Given the description of an element on the screen output the (x, y) to click on. 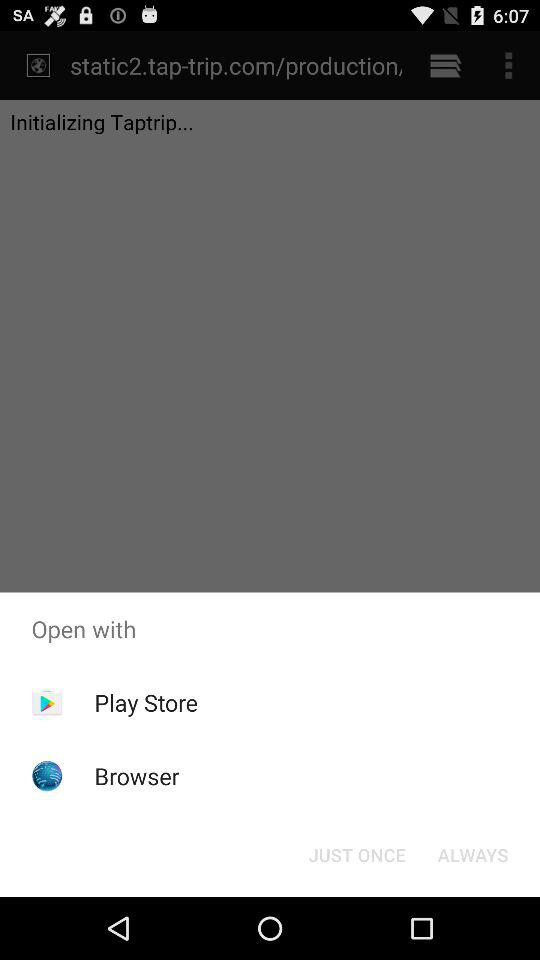
jump to play store (146, 702)
